Given the description of an element on the screen output the (x, y) to click on. 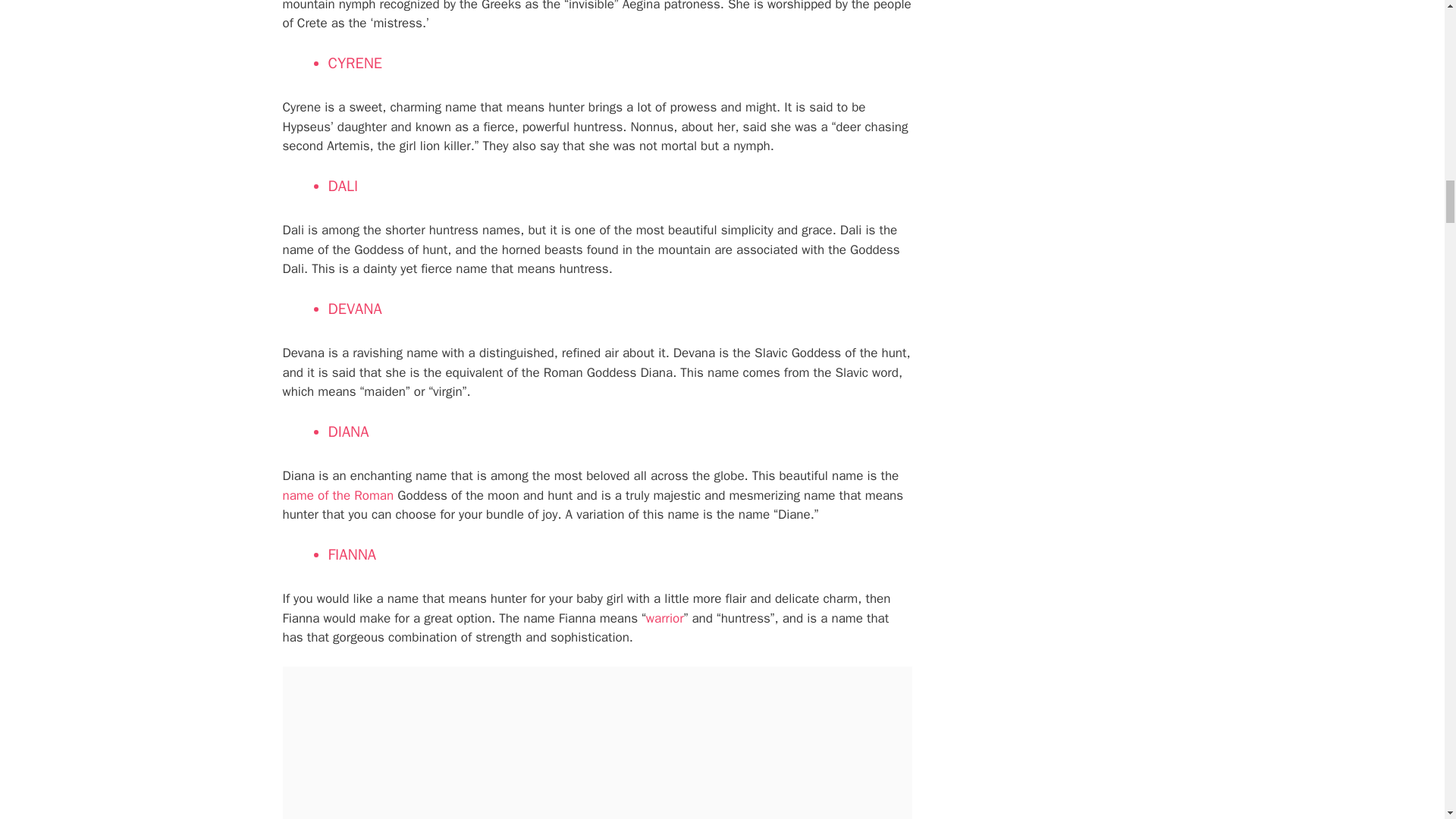
name of the Roman (337, 495)
warrior (665, 618)
